Given the description of an element on the screen output the (x, y) to click on. 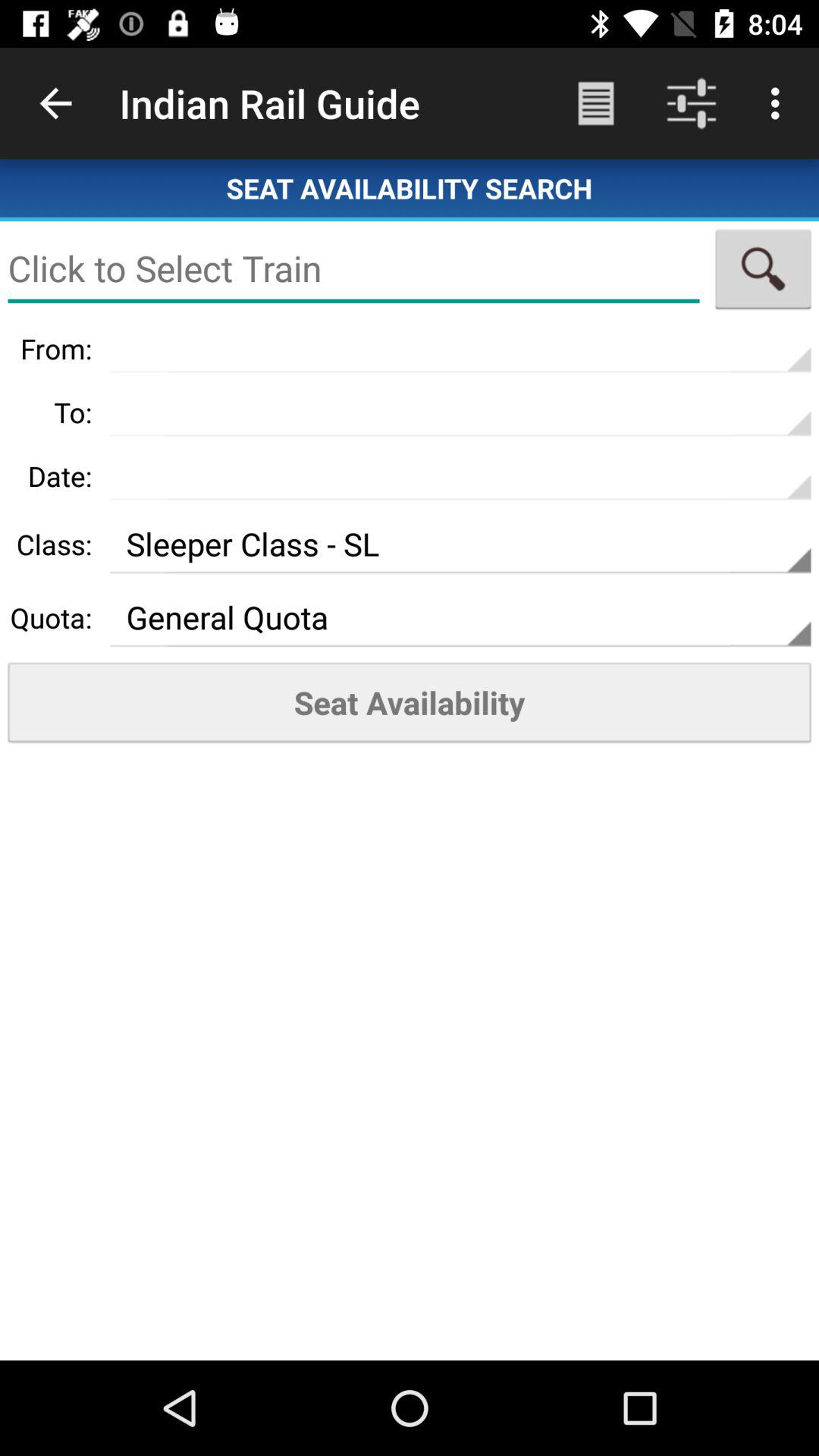
search for train availability (763, 268)
